Given the description of an element on the screen output the (x, y) to click on. 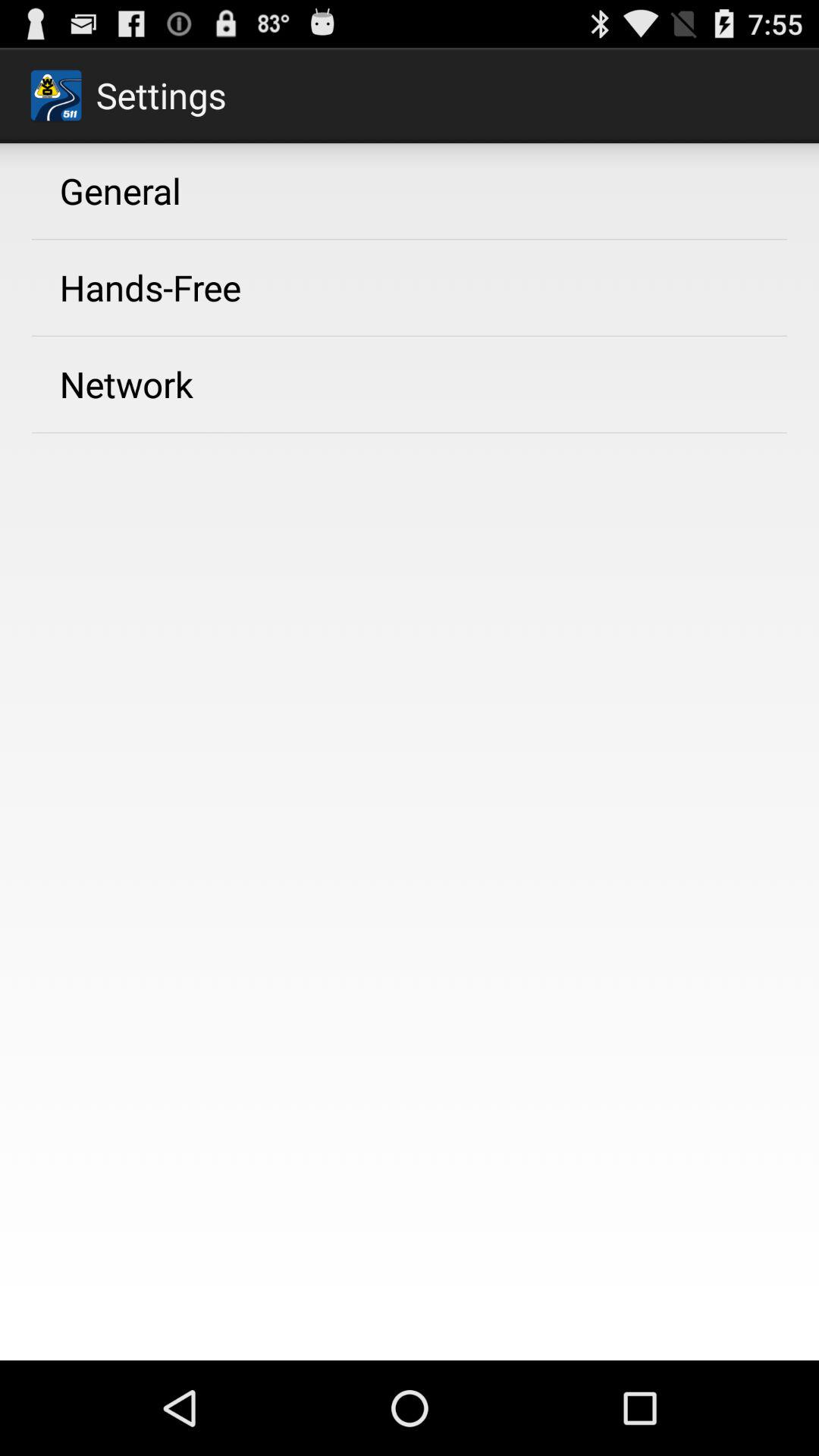
swipe until general icon (119, 190)
